Given the description of an element on the screen output the (x, y) to click on. 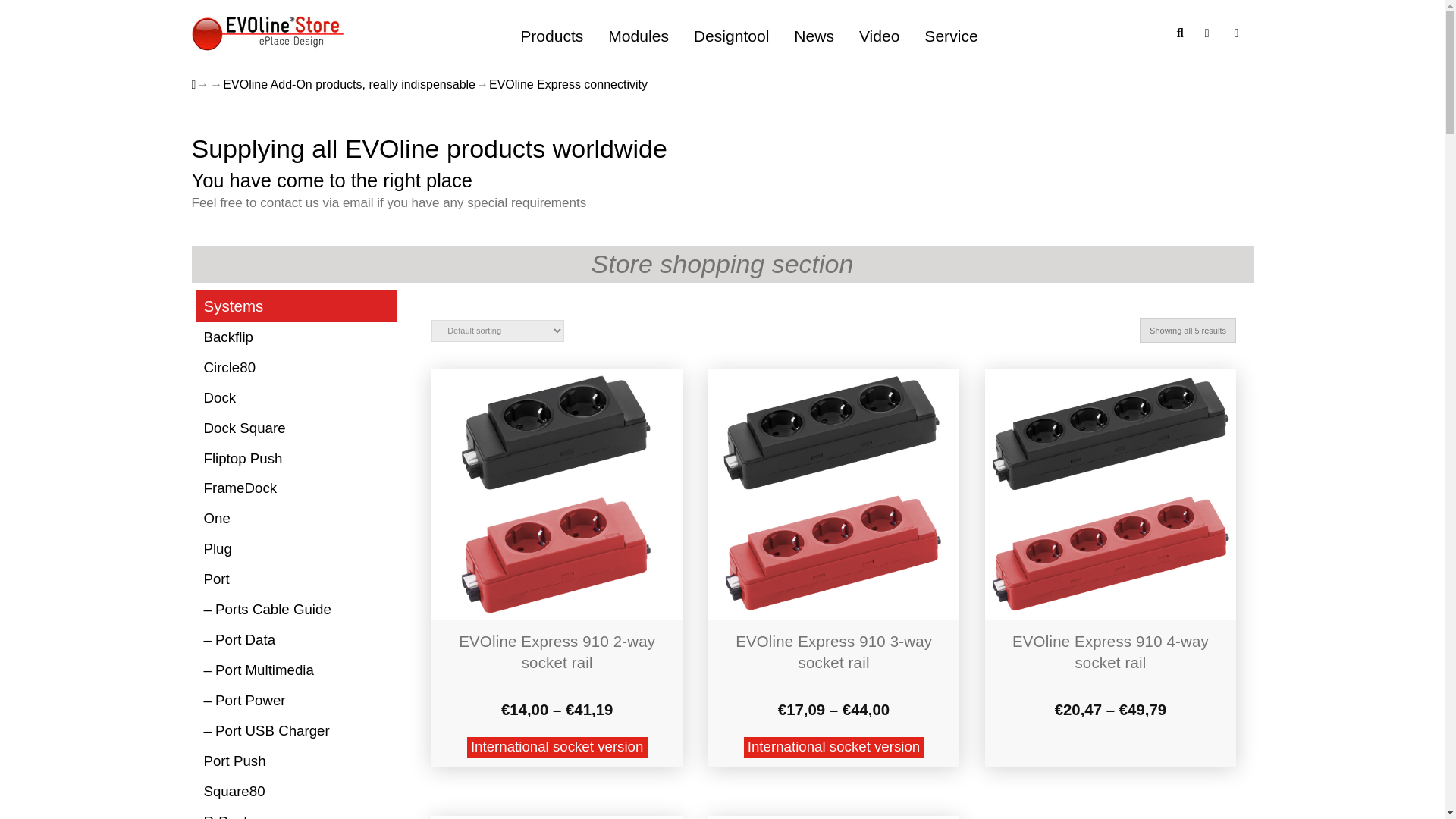
Plug (296, 549)
Fliptop Push (296, 458)
You Are Here (568, 84)
Circle80 (296, 367)
Port (296, 580)
One (296, 519)
News (814, 35)
Products (551, 35)
Square80 (296, 791)
R-Dock (296, 812)
